Given the description of an element on the screen output the (x, y) to click on. 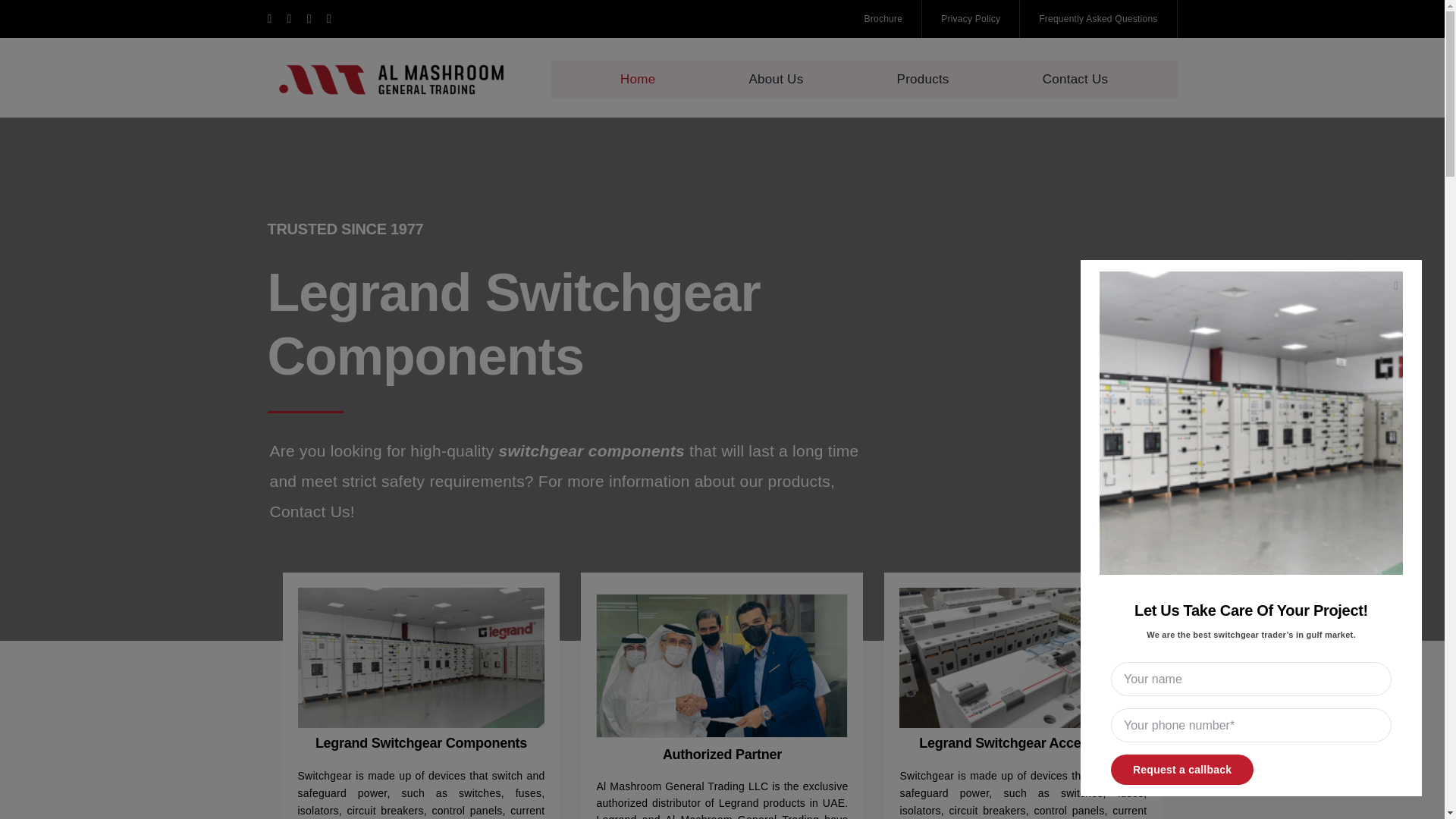
Home (637, 79)
Products (922, 79)
Contact Us (1075, 79)
Brochure (884, 18)
Request a callback (1250, 717)
Frequently Asked Questions (1098, 18)
About Us (776, 79)
Privacy Policy (970, 18)
